Given the description of an element on the screen output the (x, y) to click on. 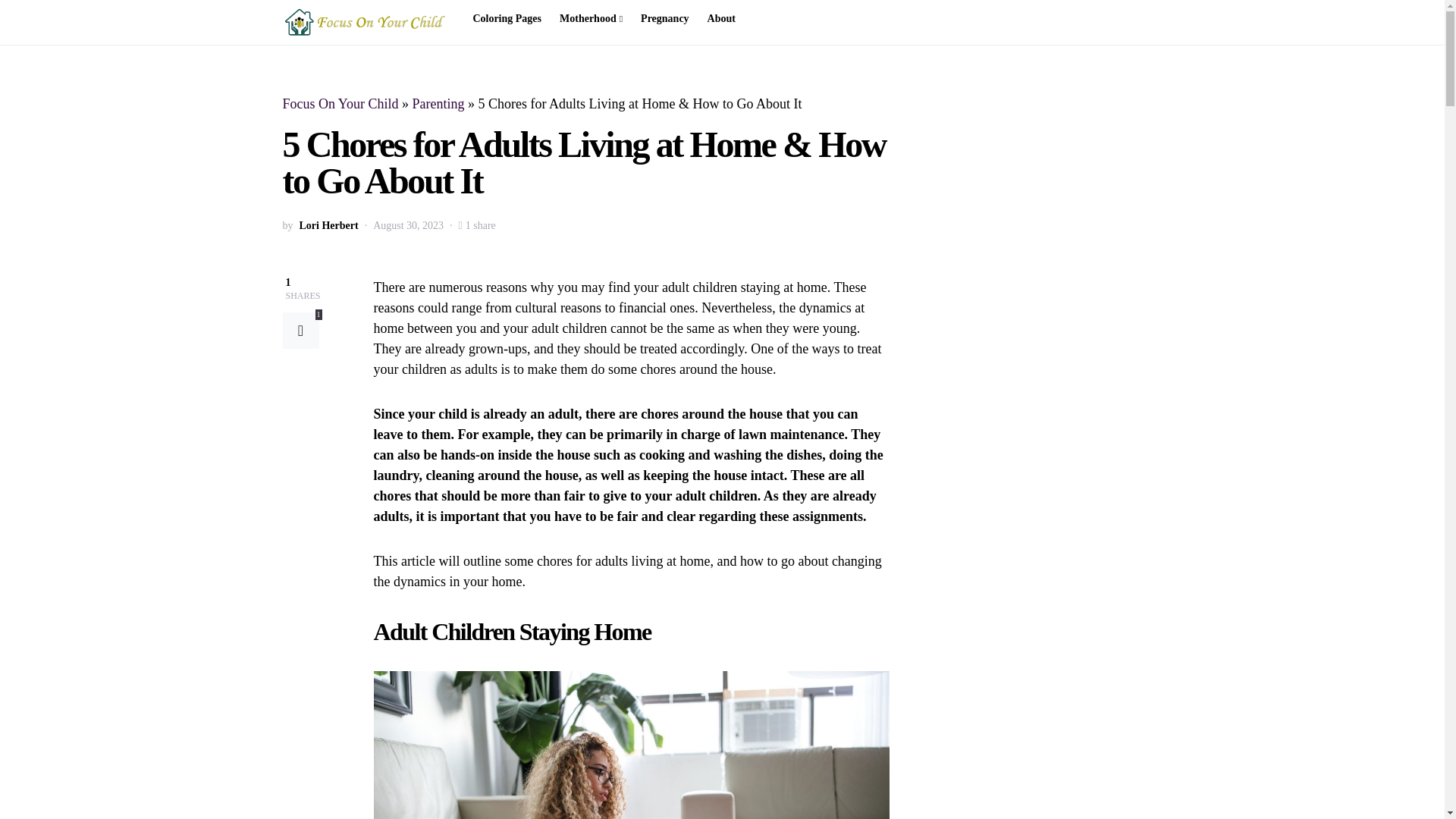
Motherhood (590, 18)
Lori Herbert (328, 225)
Pregnancy (664, 18)
Focus On Your Child (339, 103)
View all posts by Lori Herbert (328, 225)
Coloring Pages (510, 18)
Parenting (438, 103)
About (716, 18)
1 (300, 330)
